Given the description of an element on the screen output the (x, y) to click on. 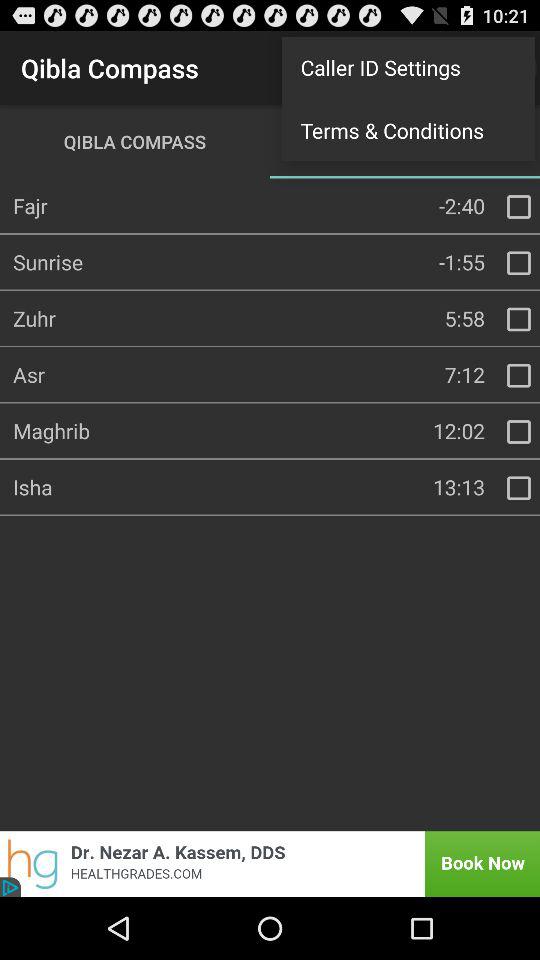
select sunrise (519, 263)
